Given the description of an element on the screen output the (x, y) to click on. 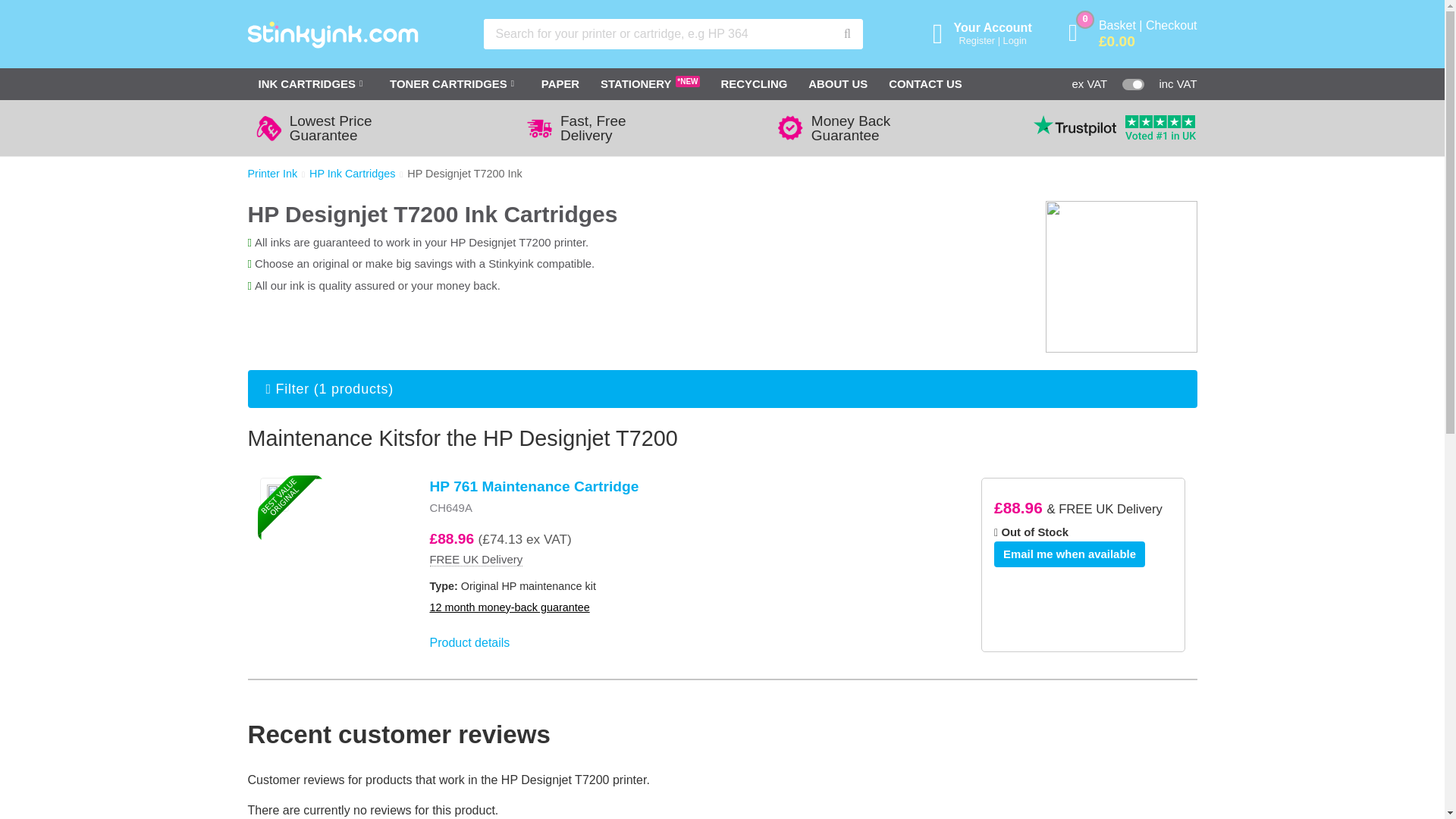
Your Account (992, 27)
Checkout (1170, 24)
RECYCLING (753, 83)
CONTACT US (924, 83)
Basket (1117, 24)
PAPER (560, 83)
ABOUT US (837, 83)
0 (1080, 33)
Register (976, 40)
Search (847, 33)
